Given the description of an element on the screen output the (x, y) to click on. 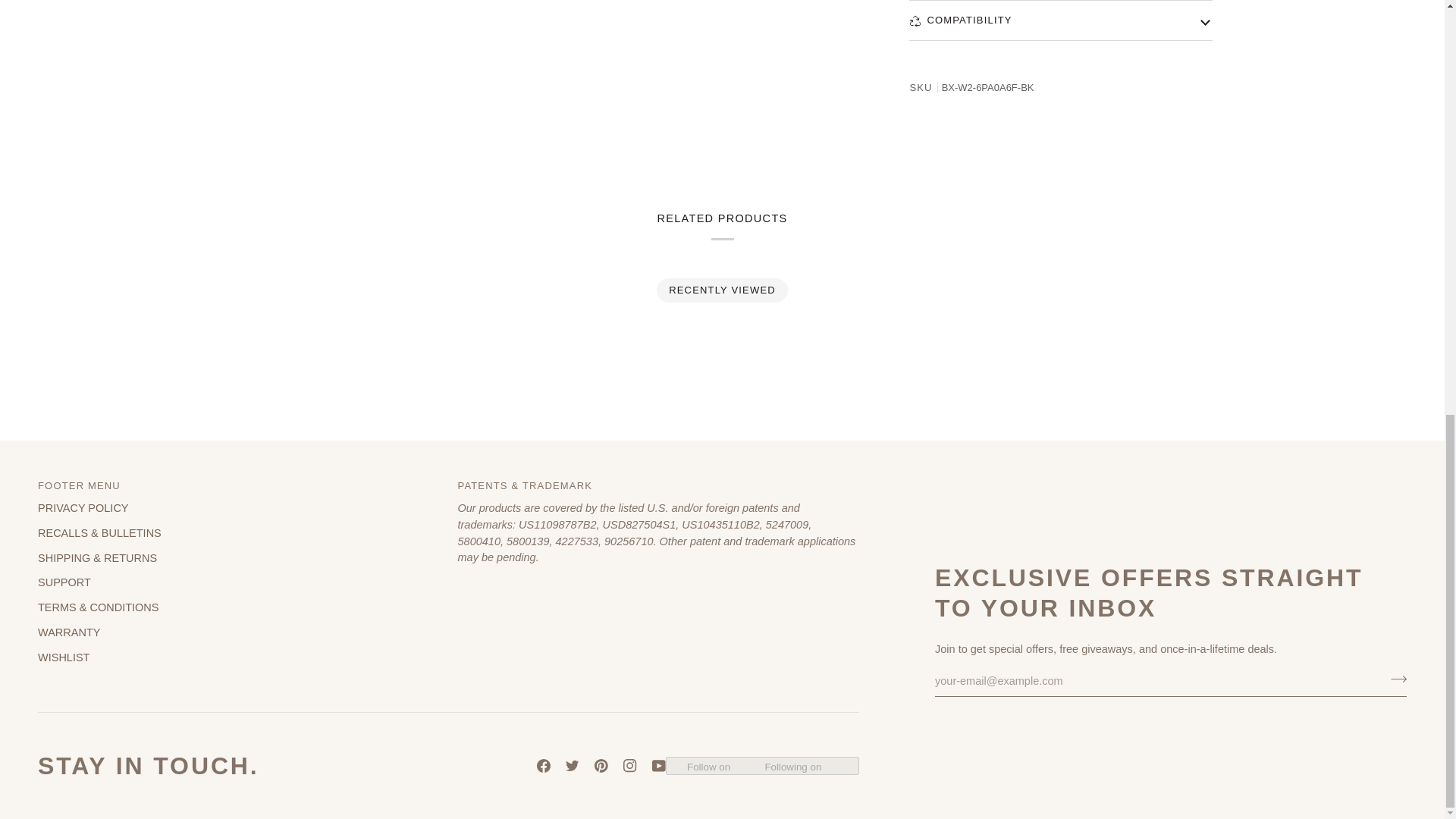
Facebook (543, 766)
YouTube (658, 766)
RECENTLY VIEWED (722, 290)
Instagram (630, 766)
Twitter (572, 766)
Pinterest (601, 766)
